Given the description of an element on the screen output the (x, y) to click on. 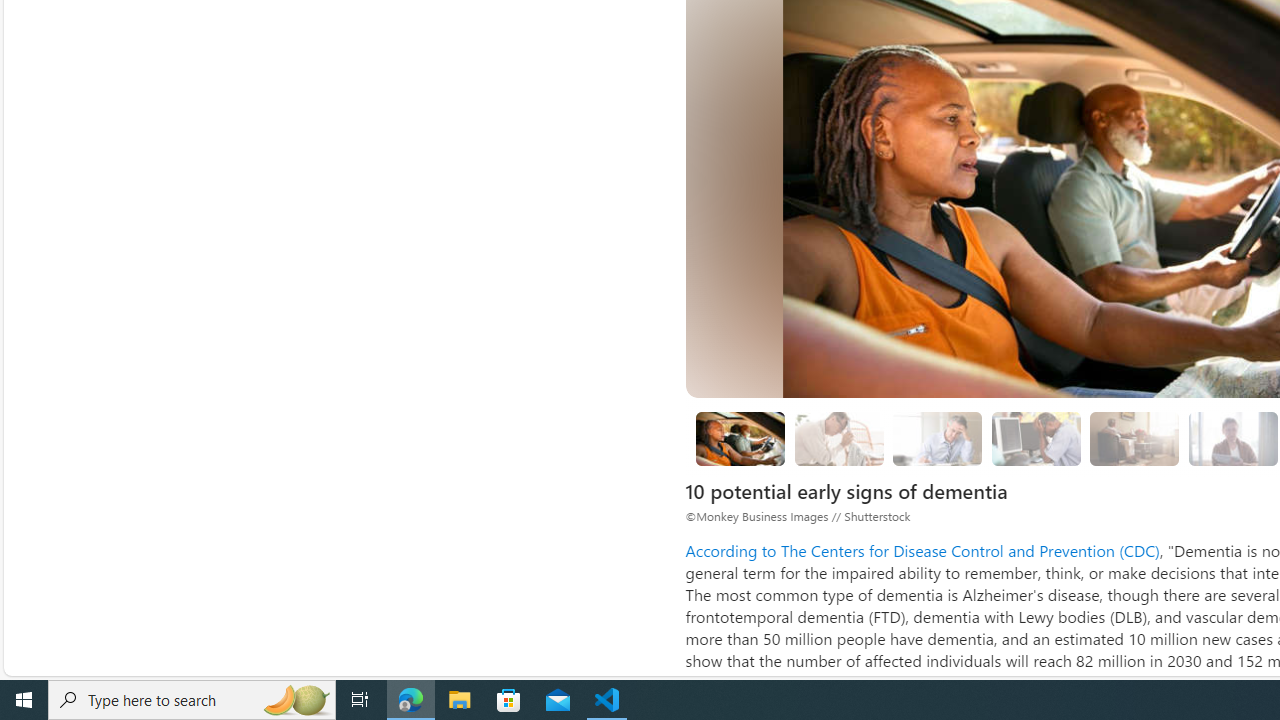
10 potential early signs of dementia (740, 439)
Challenges in planning or solving problems (937, 439)
Trouble understanding visual images and spatial relations (1232, 438)
10 potential early signs of dementia (740, 438)
Challenges in planning or solving problems (938, 438)
Confusion with time or place (1135, 438)
Memory loss that disrupts daily life (838, 439)
Class: progress (1134, 435)
Confusion with time or place (1134, 439)
Memory loss that disrupts daily life (838, 438)
